Given the description of an element on the screen output the (x, y) to click on. 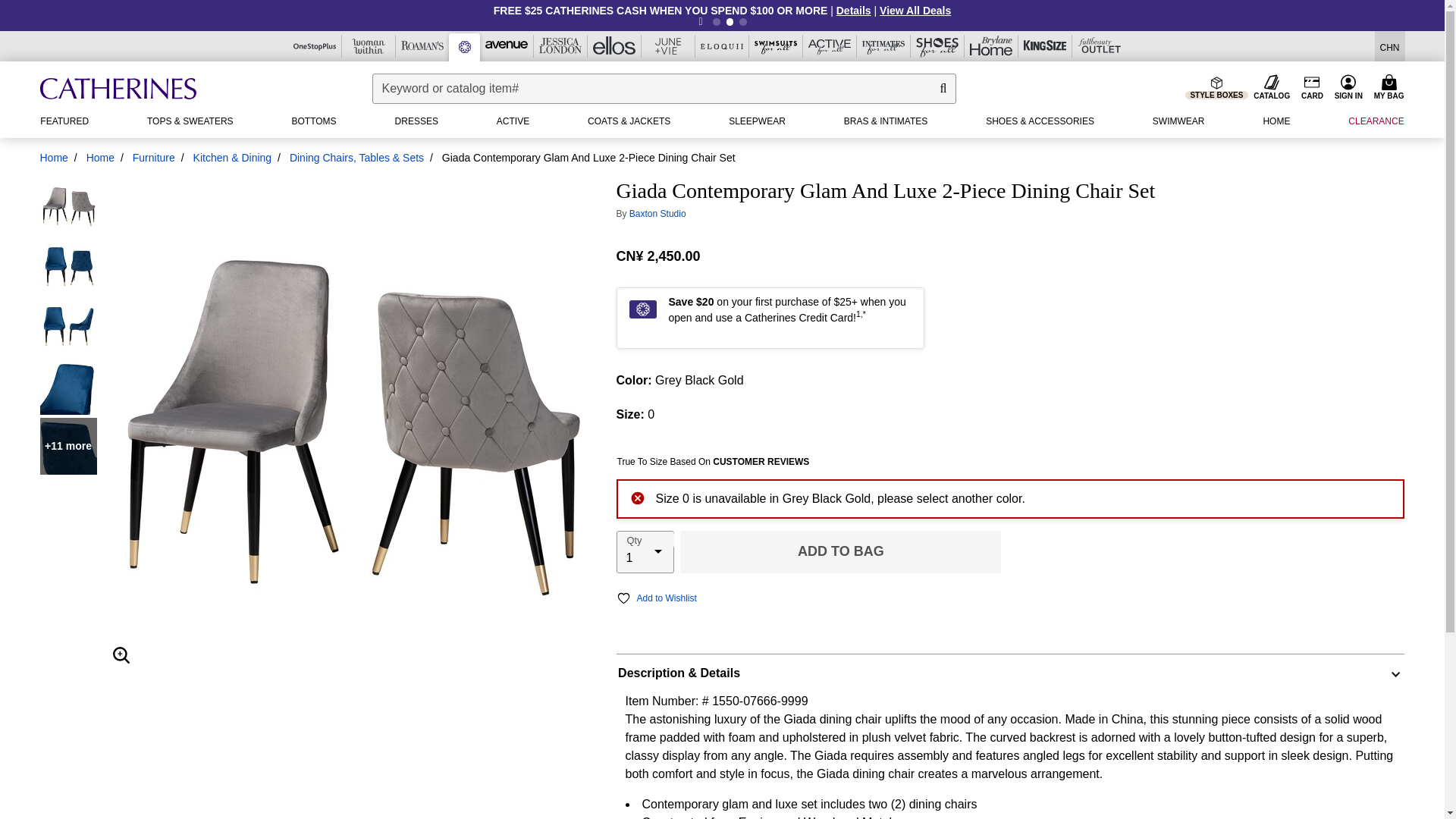
CHN (1388, 45)
View All Deals (914, 10)
KingSize (1044, 46)
fullbeauty (1099, 46)
Details (855, 10)
Catherine's Home (117, 88)
CATALOG (1271, 87)
Roaman's (422, 46)
June and Vie (667, 46)
Active For All (829, 46)
Jessica London (559, 46)
ellos (613, 46)
Avenue (505, 44)
Intimates For All (882, 46)
STYLE BOXES (1216, 91)
